Given the description of an element on the screen output the (x, y) to click on. 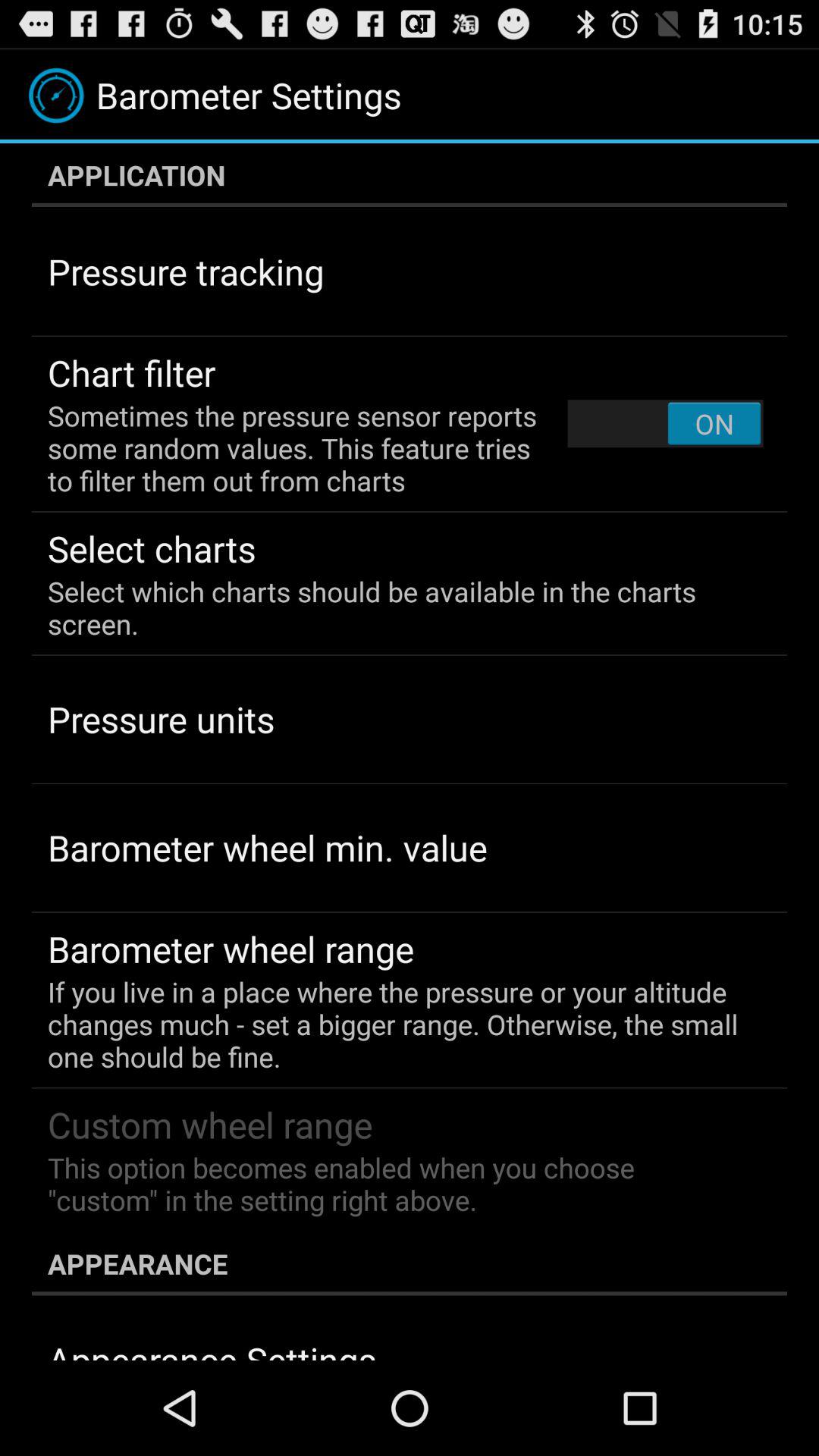
flip to the chart filter item (131, 372)
